Given the description of an element on the screen output the (x, y) to click on. 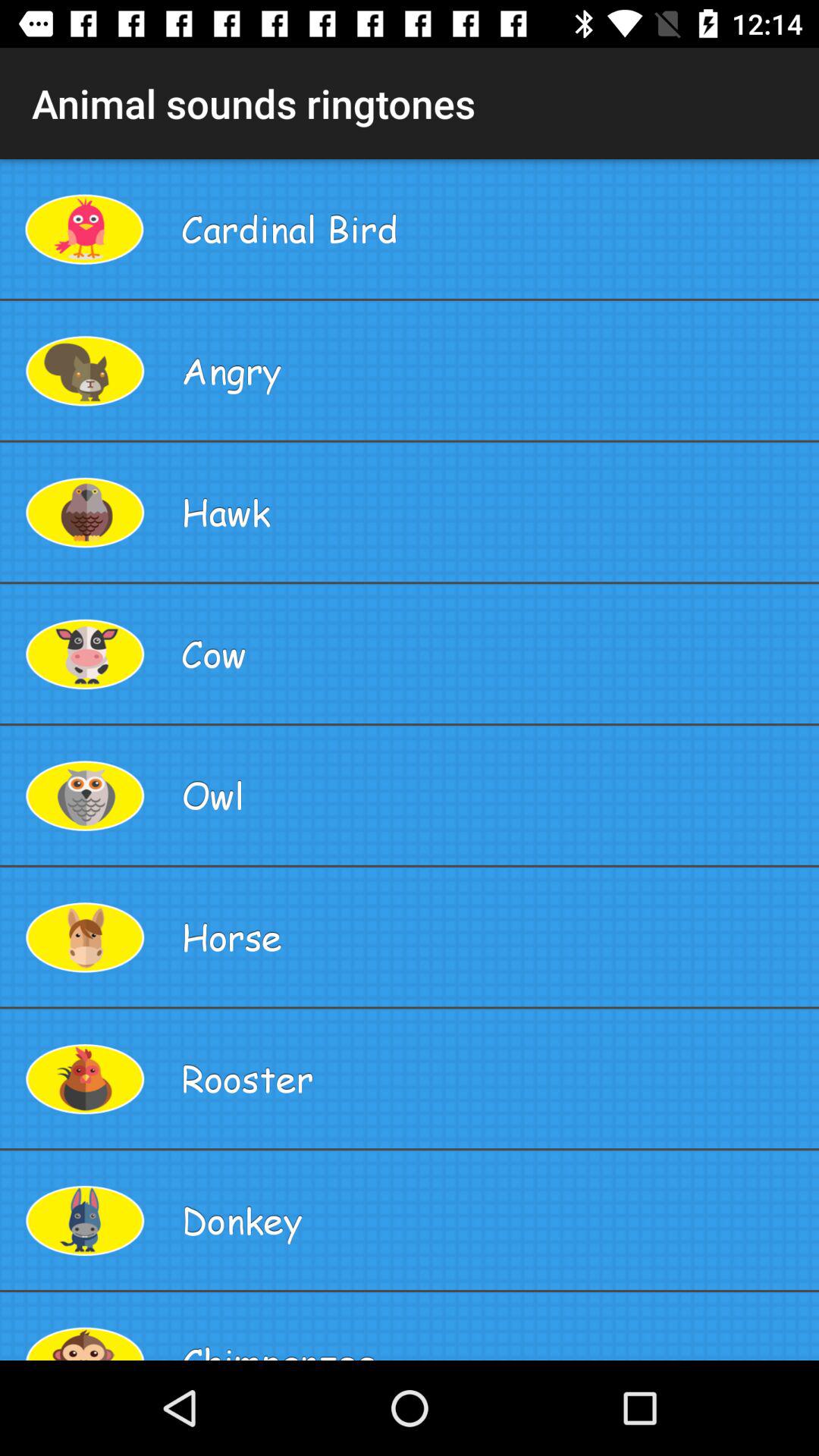
turn on the donkey (494, 1219)
